Given the description of an element on the screen output the (x, y) to click on. 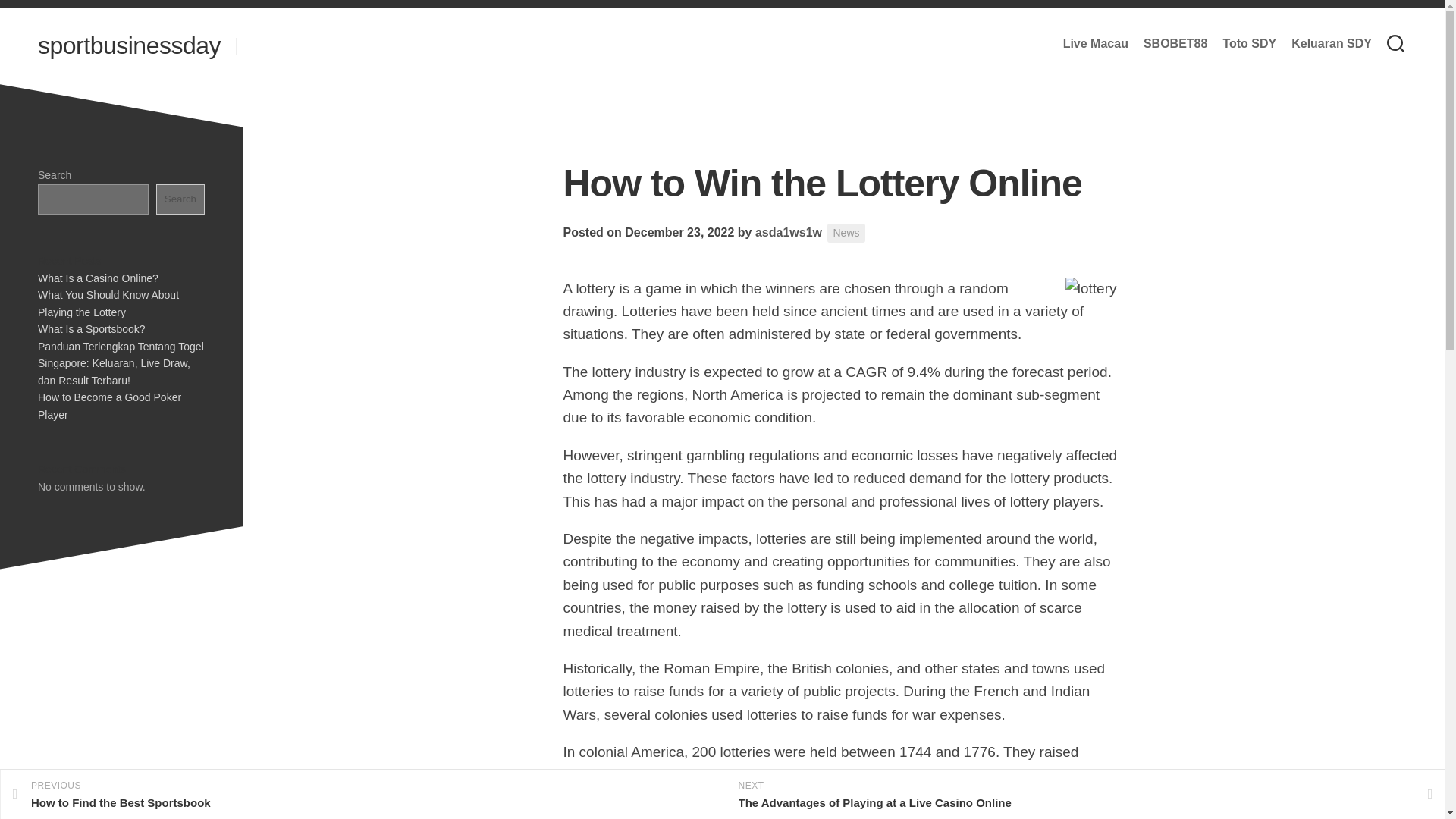
What Is a Slot? (73, 363)
SBOBET88 (1174, 43)
What is the Lottery? (84, 397)
asda1ws1w (788, 232)
sportbusinessday (129, 44)
Keluaran SDY (1331, 43)
News (845, 232)
Toto SDY (361, 794)
How to Become a Good Poker Player (1249, 43)
Posts by asda1ws1w (108, 286)
Live Macau (788, 232)
Search (1095, 43)
Choosing a Casino Online (180, 198)
